Given the description of an element on the screen output the (x, y) to click on. 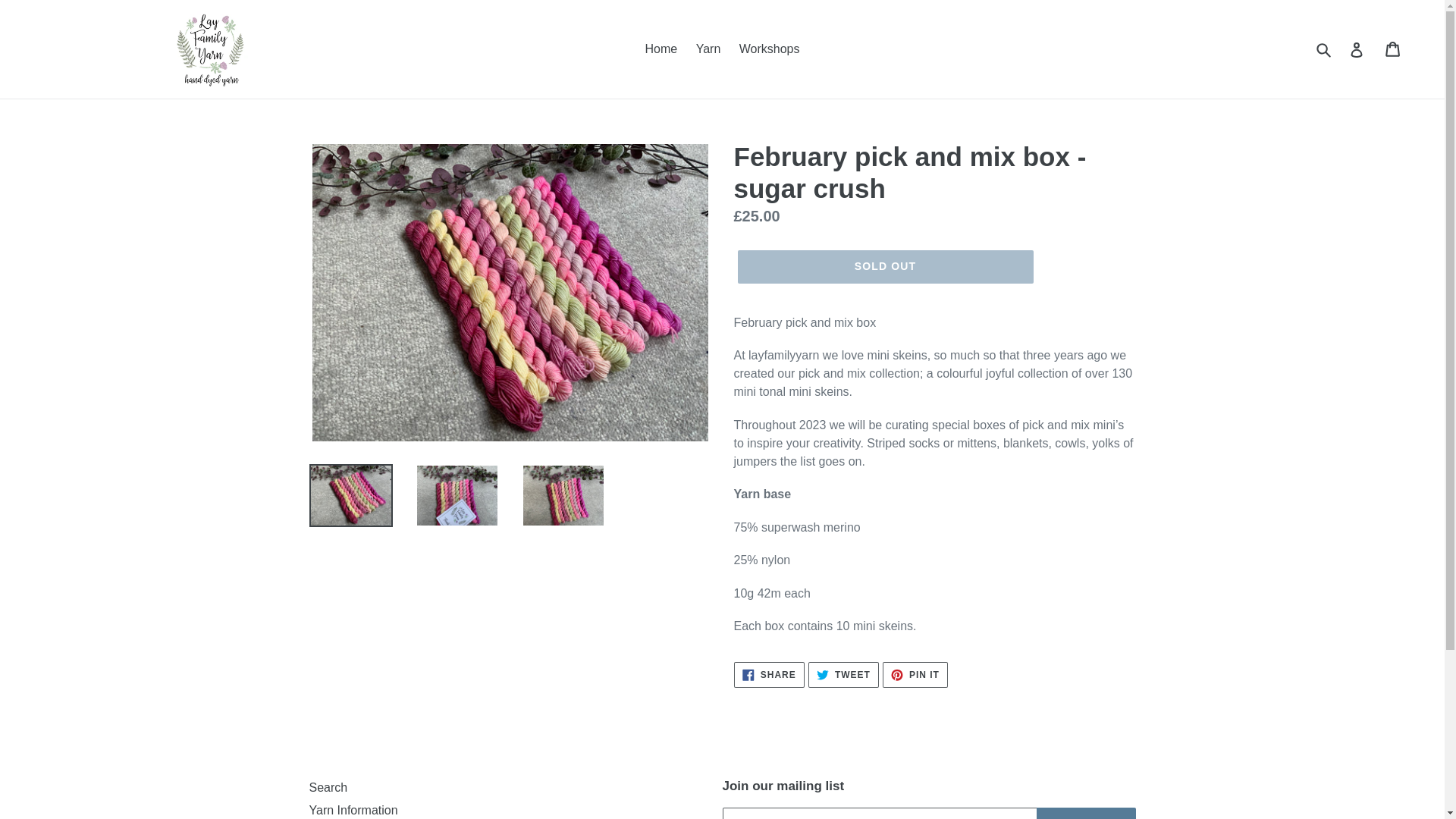
Yarn Information (352, 809)
SOLD OUT (884, 266)
Search (327, 787)
Cart (1393, 49)
SUBSCRIBE (1085, 813)
Home (661, 48)
Workshops (770, 48)
Log in (914, 674)
Yarn (1356, 49)
Submit (708, 48)
